Given the description of an element on the screen output the (x, y) to click on. 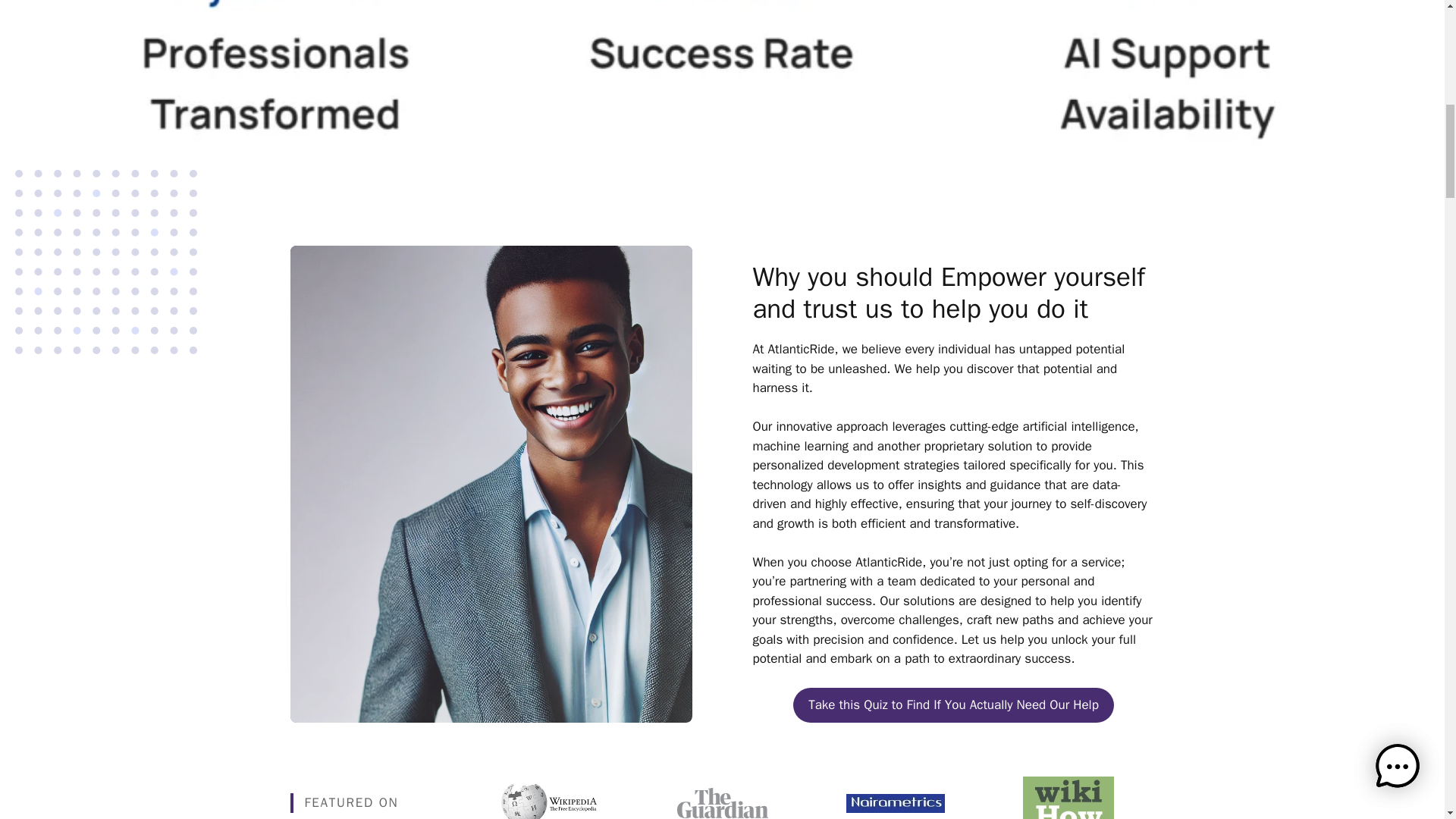
Home 3 (549, 797)
Take this Quiz to Find If You Actually Need Our Help (953, 704)
Home 4 (722, 802)
Home 6 (1067, 797)
Home 5 (894, 803)
